Given the description of an element on the screen output the (x, y) to click on. 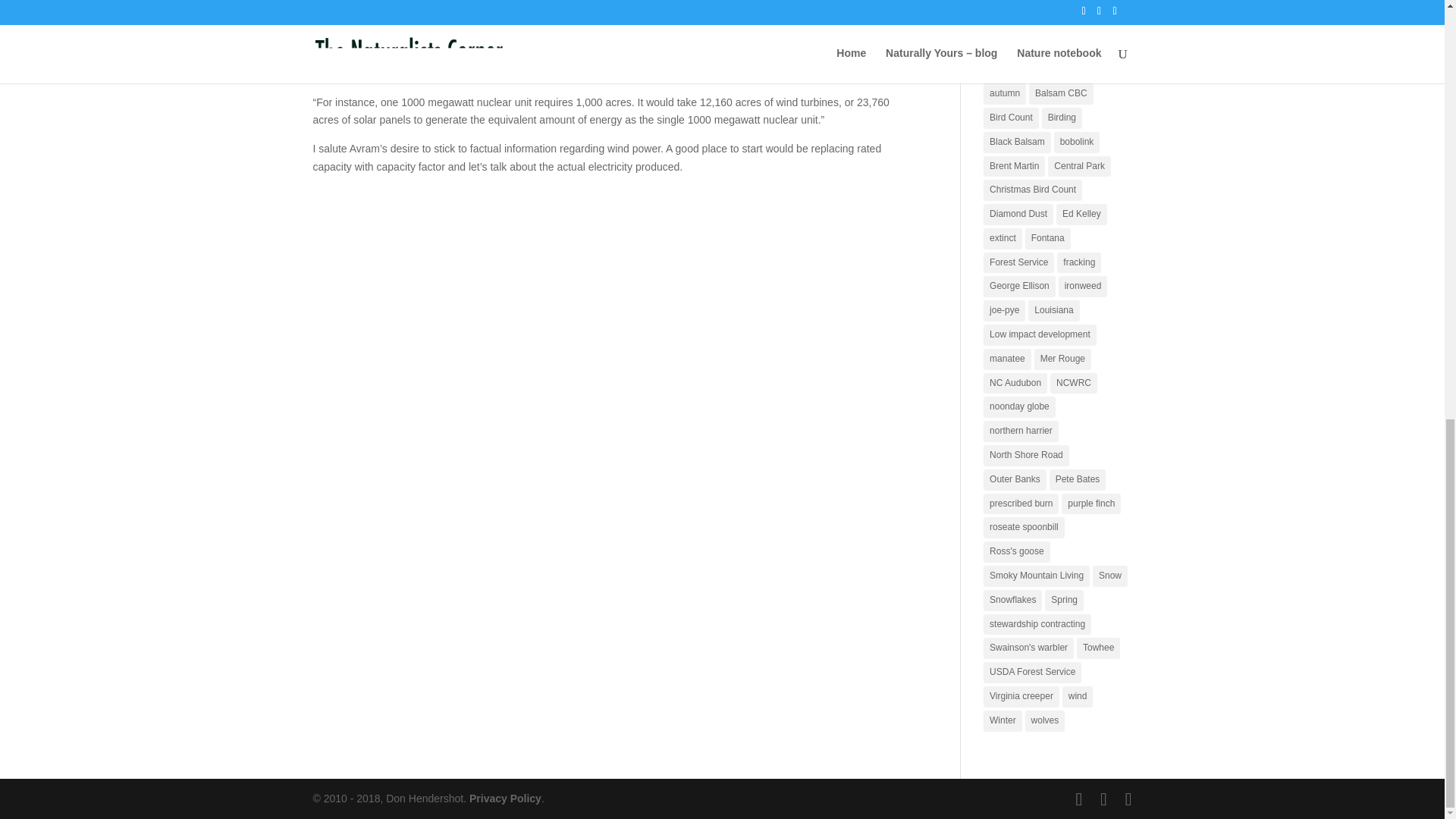
Brent Martin (1014, 165)
Diamond Dust (1018, 214)
Fontana (1047, 238)
Central Park (1079, 165)
bobolink (1077, 142)
Christmas Bird Count (1032, 189)
autumn (1005, 93)
Black Balsam (1017, 142)
Balsam CBC (1061, 93)
extinct (1003, 238)
